Given the description of an element on the screen output the (x, y) to click on. 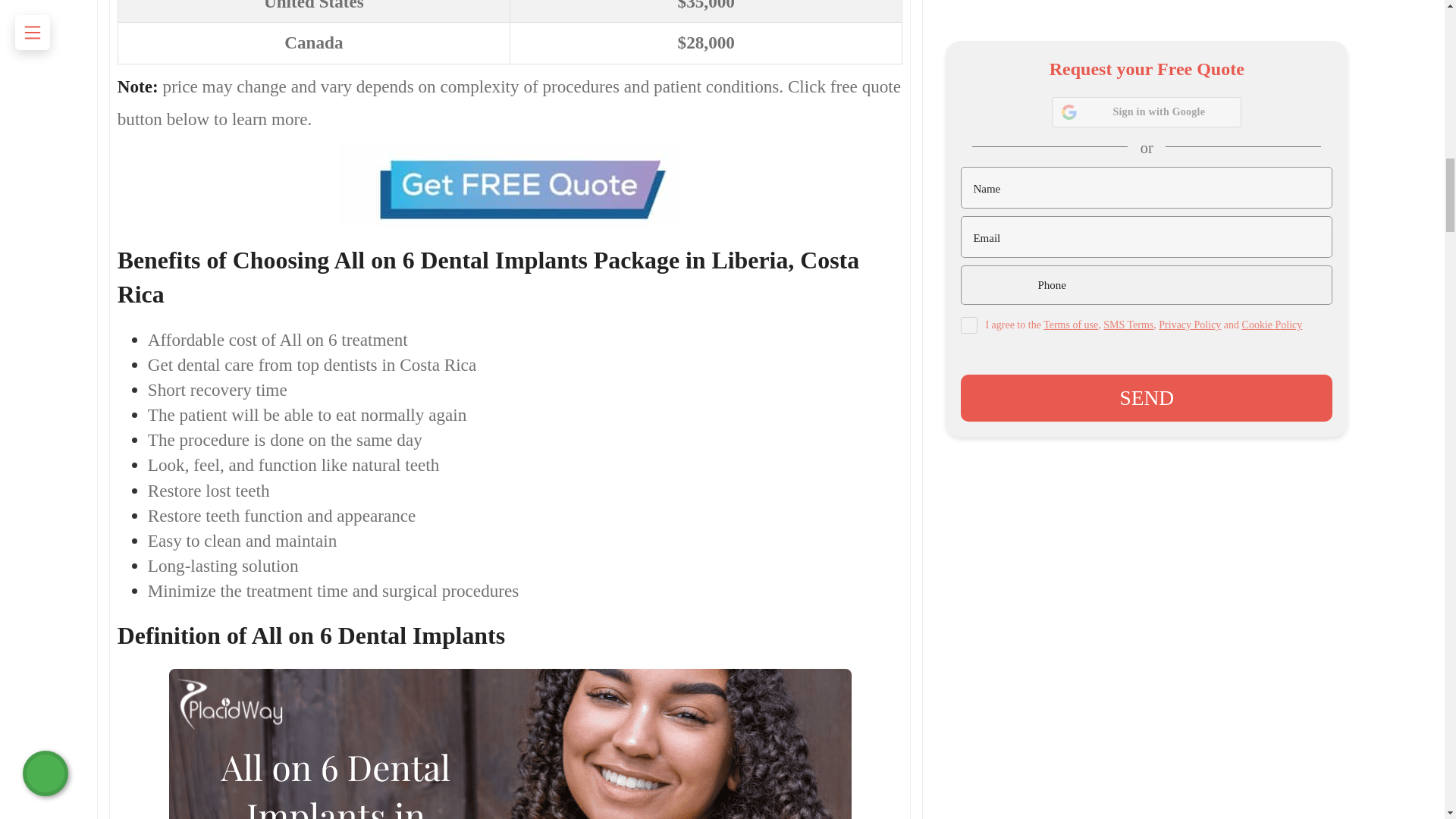
All on 6 Dental Implants in Liberia, Costa Rica (509, 744)
